Given the description of an element on the screen output the (x, y) to click on. 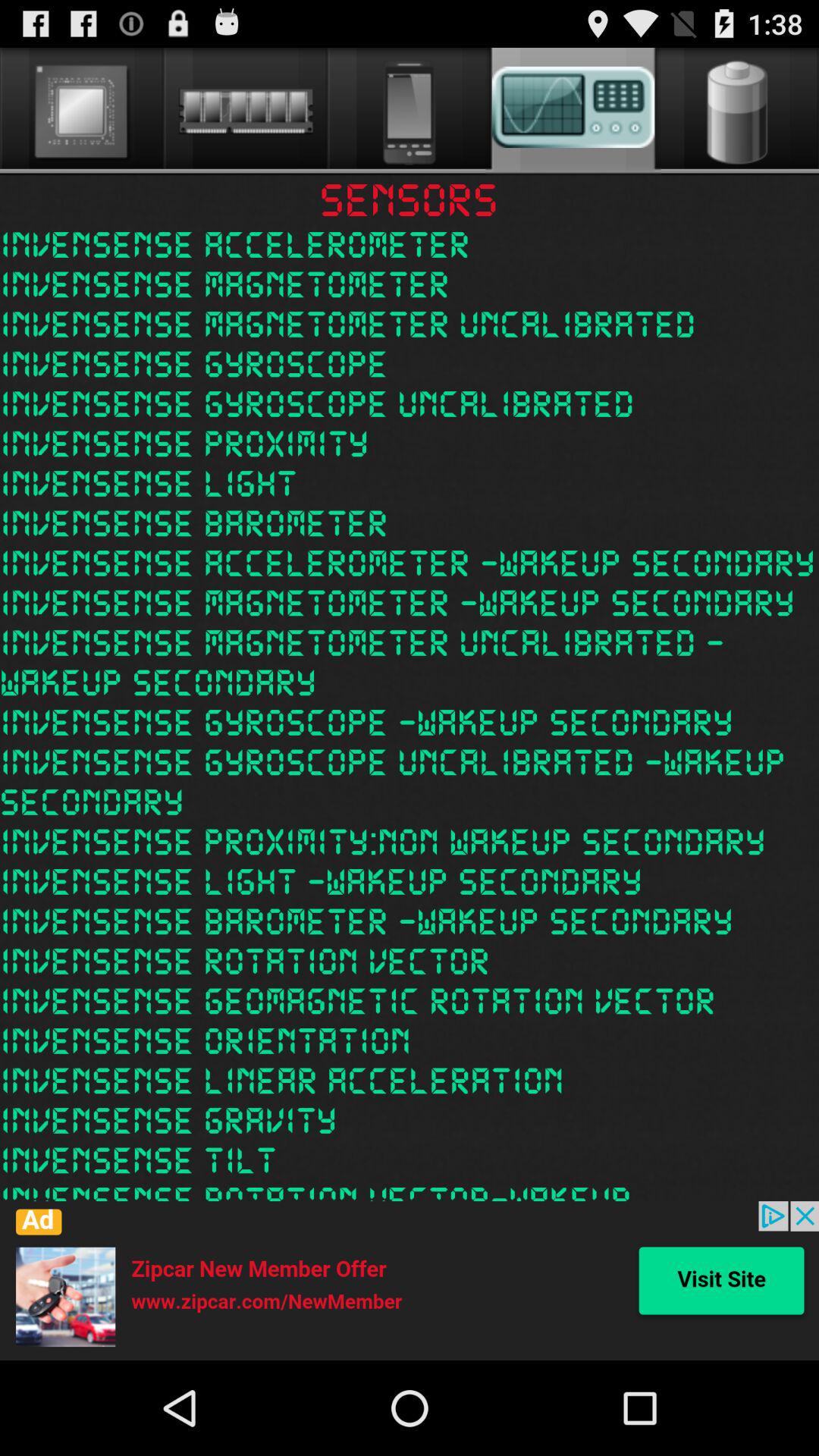
visit site (409, 1280)
